Given the description of an element on the screen output the (x, y) to click on. 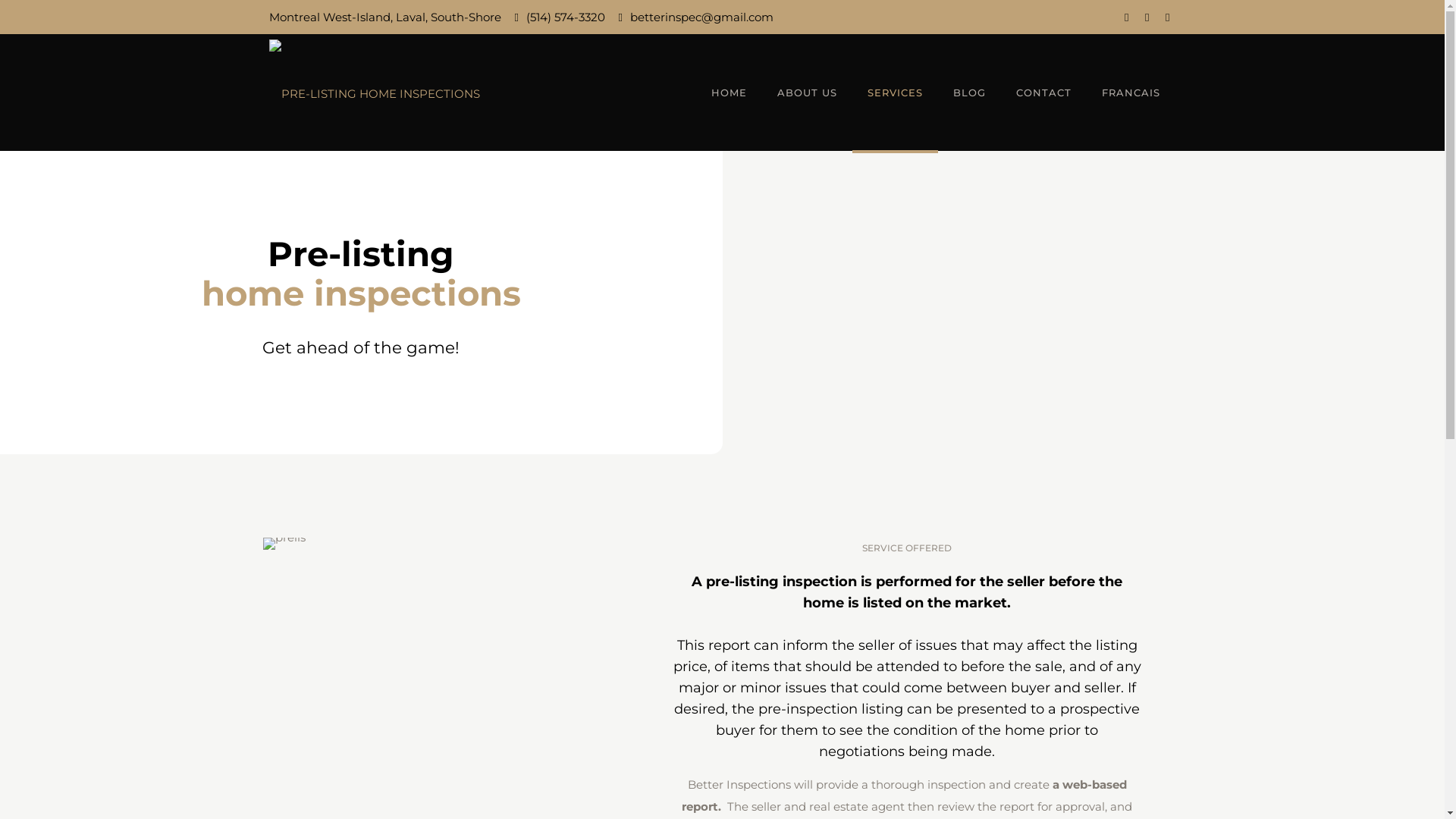
ABOUT US Element type: text (807, 92)
CONTACT Element type: text (1043, 92)
(514) 574-3320 Element type: text (565, 16)
betterinspec@gmail.com Element type: text (701, 16)
SERVICES Element type: text (895, 92)
FRANCAIS Element type: text (1130, 92)
Instagram Element type: hover (1146, 16)
BLOG Element type: text (969, 92)
HOME Element type: text (729, 92)
Facebook Element type: hover (1126, 16)
Better Inspections Element type: hover (374, 92)
